Given the description of an element on the screen output the (x, y) to click on. 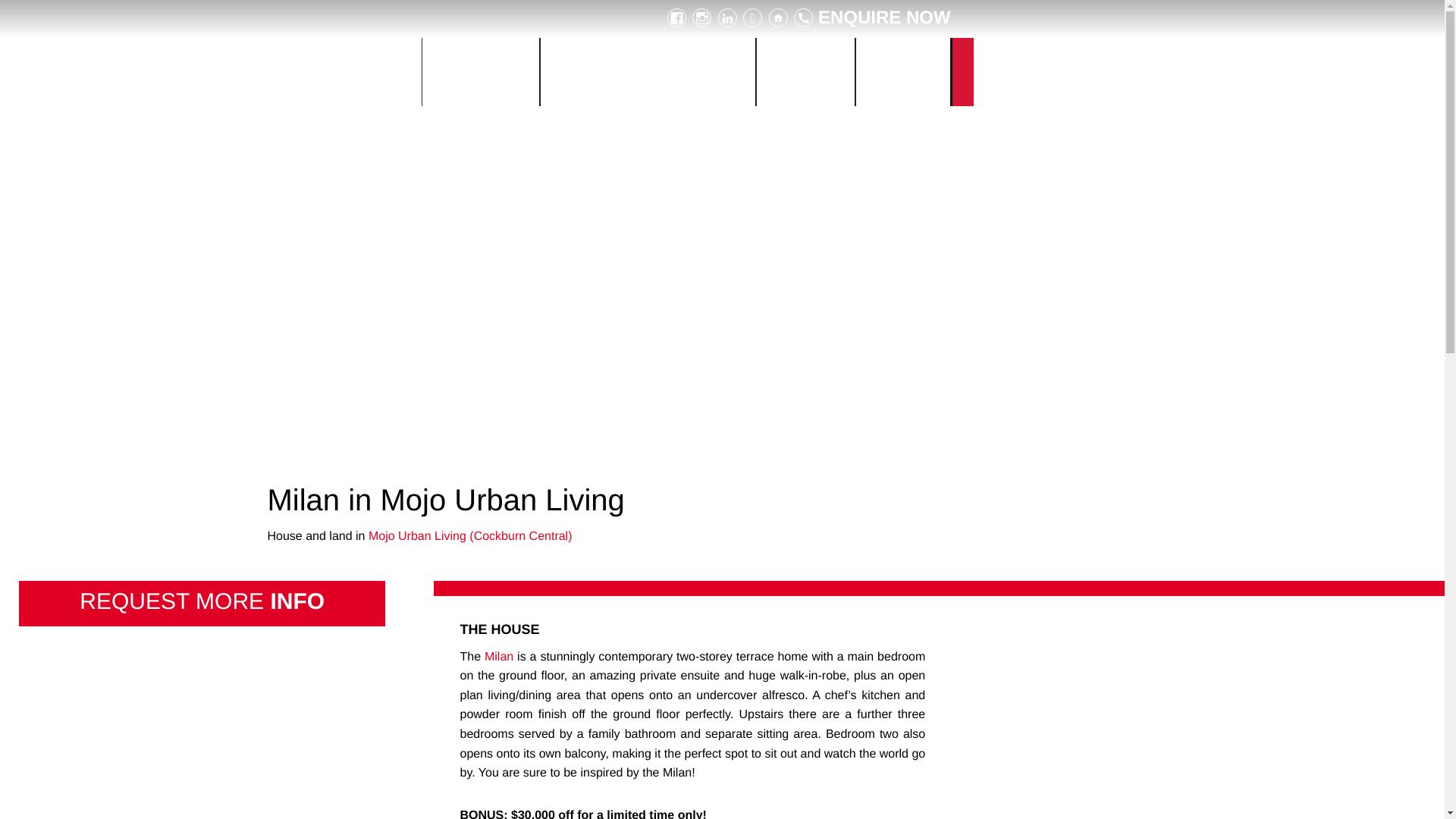
Milan (498, 656)
TURNKEY AND BUILT COMPLETE (647, 71)
ABOUT US (805, 71)
INVEST IN THE WEST (345, 71)
OUR DESIGNS (480, 71)
CONTACT (902, 71)
ENQUIRE NOW (871, 16)
